Given the description of an element on the screen output the (x, y) to click on. 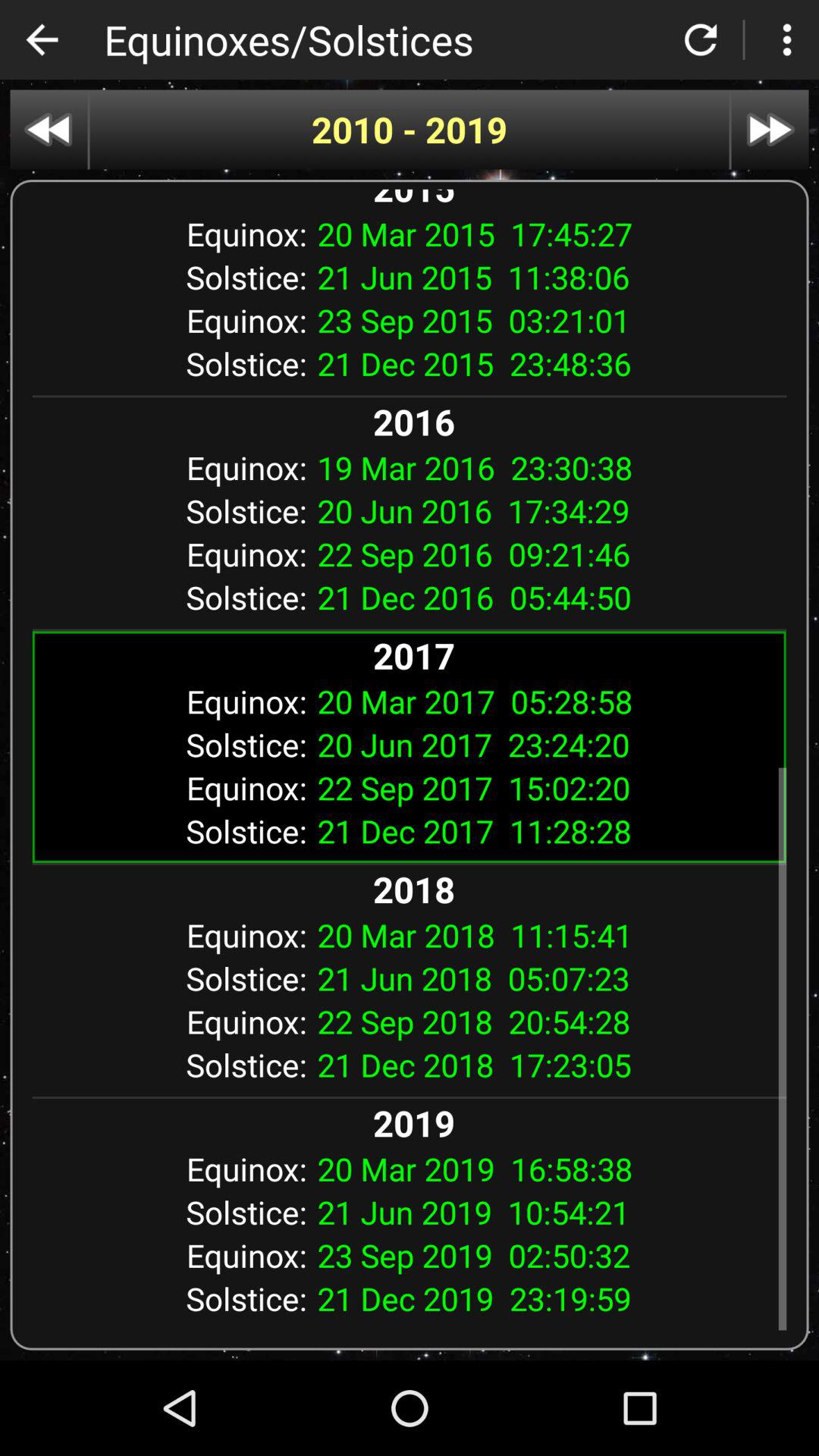
go back (48, 129)
